Given the description of an element on the screen output the (x, y) to click on. 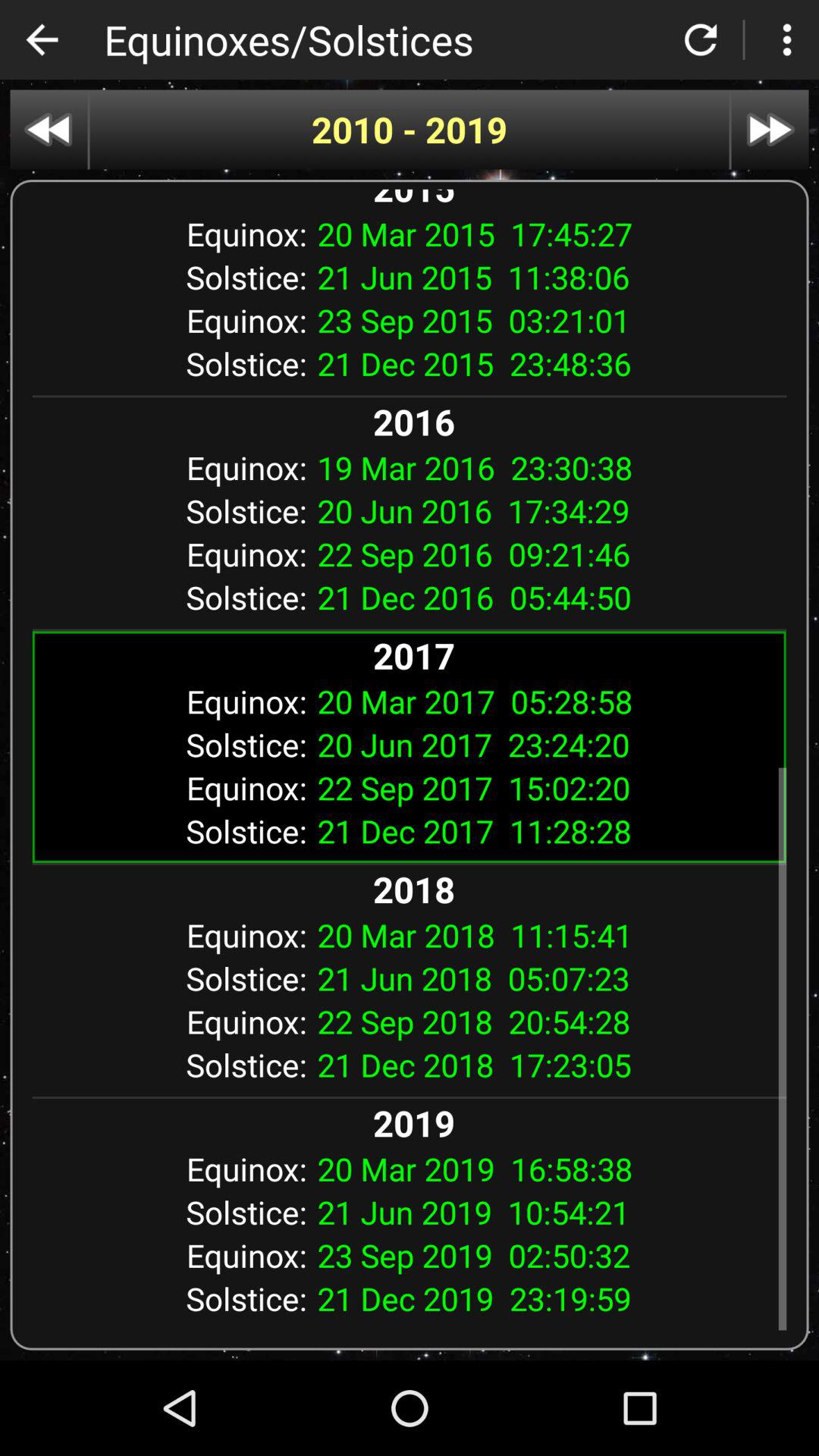
go back (48, 129)
